Given the description of an element on the screen output the (x, y) to click on. 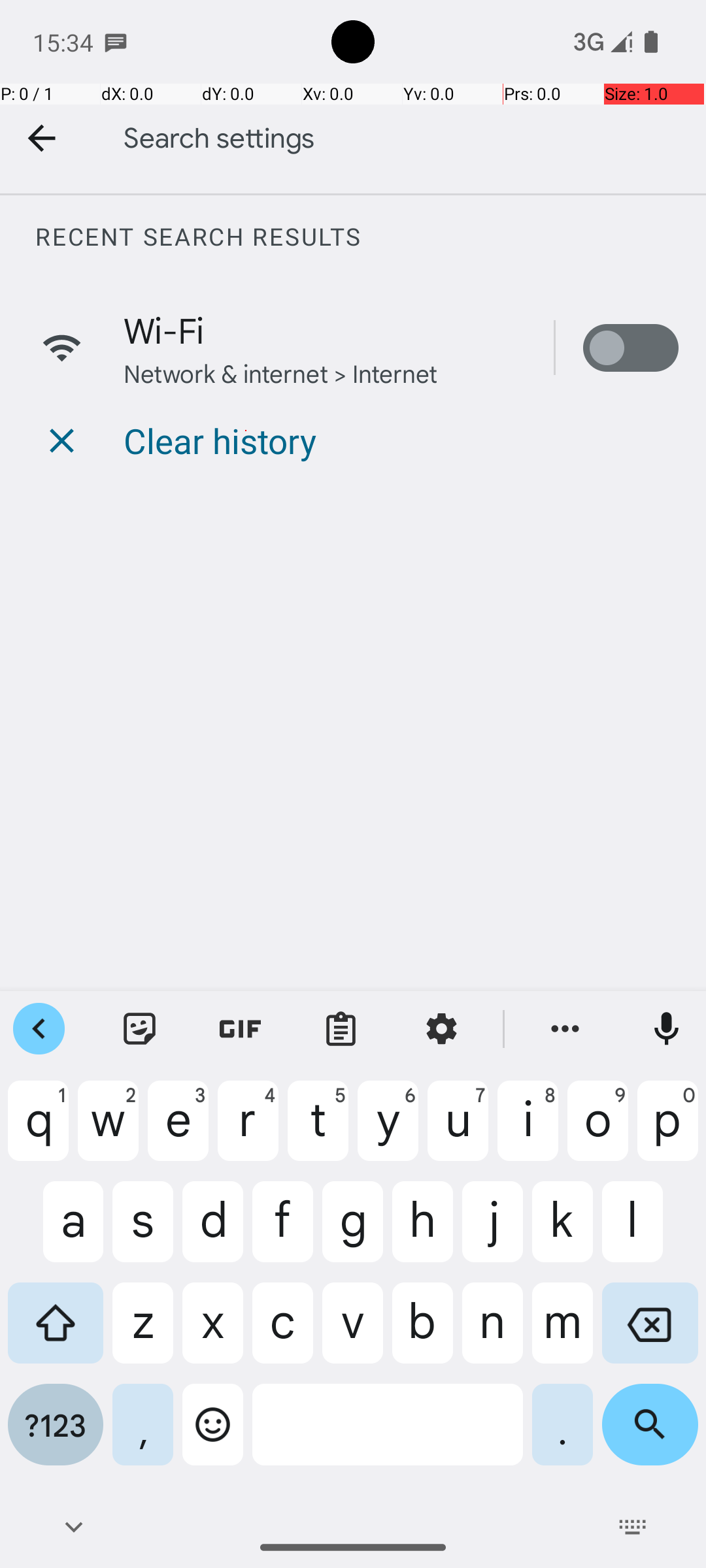
RECENT SEARCH RESULTS Element type: android.widget.TextView (370, 236)
Network & internet > Internet Element type: android.widget.TextView (280, 372)
Clear history Element type: android.widget.TextView (219, 440)
